Given the description of an element on the screen output the (x, y) to click on. 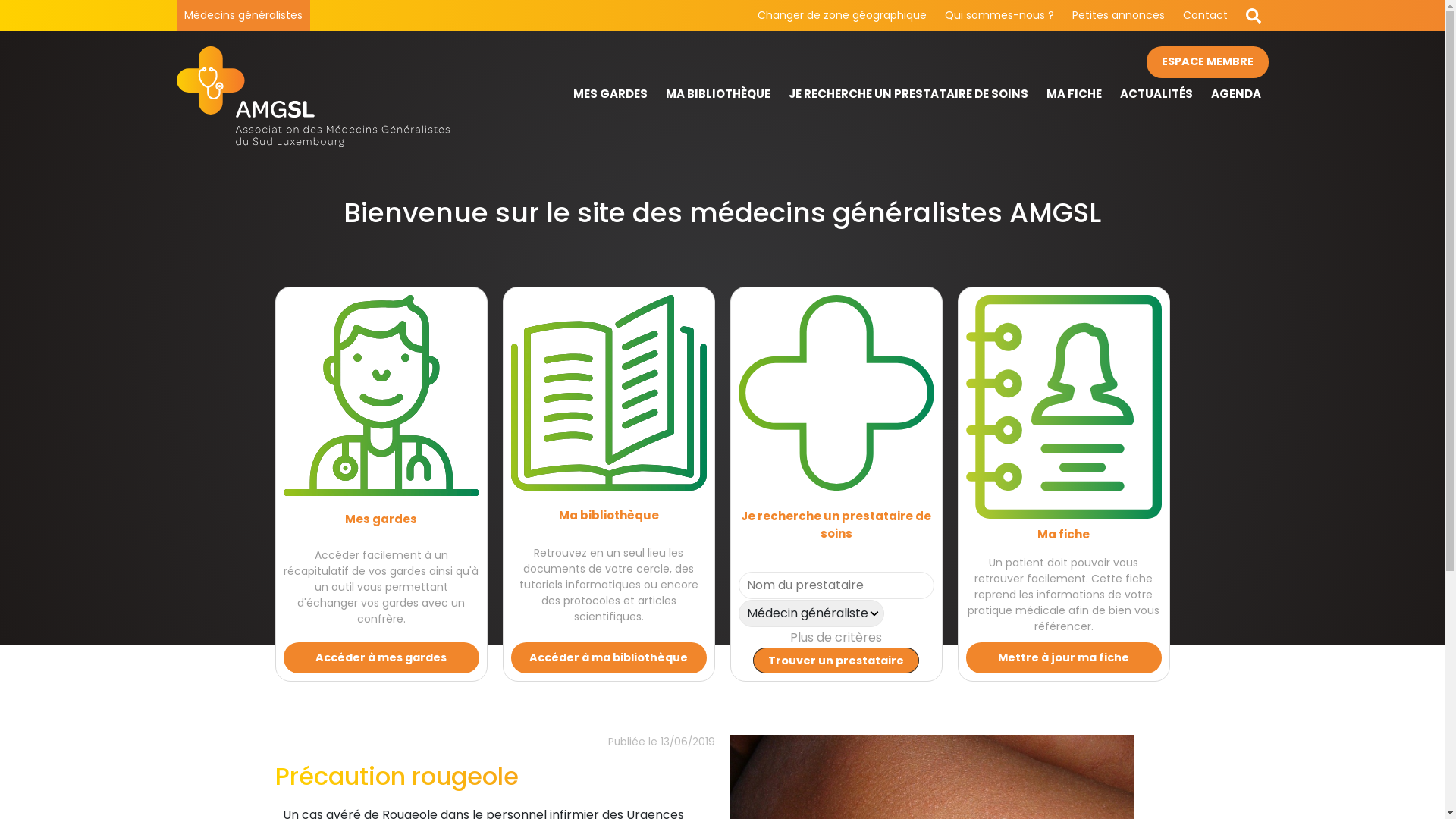
ESPACE MEMBRE Element type: text (1207, 62)
AGENDA Element type: text (1234, 94)
Rechercher Element type: hover (1252, 15)
Trouver un prestataire Element type: text (836, 660)
MES GARDES Element type: text (610, 94)
JE RECHERCHE UN PRESTATAIRE DE SOINS Element type: text (908, 94)
Qui sommes-nous ? Element type: text (999, 15)
Contact Element type: text (1205, 15)
Petites annonces Element type: text (1118, 15)
MA FICHE Element type: text (1073, 94)
